Given the description of an element on the screen output the (x, y) to click on. 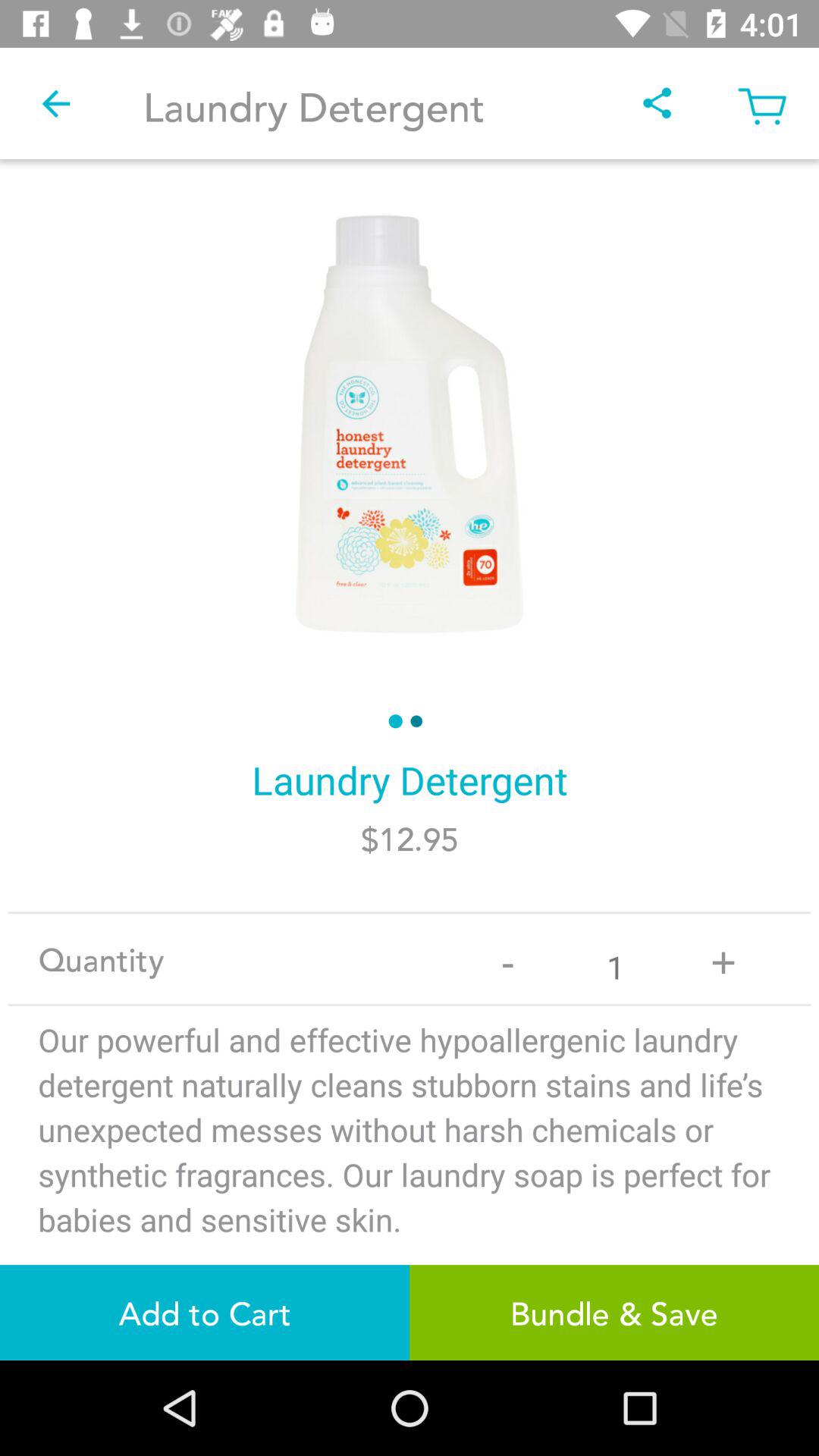
jump until the our powerful and (409, 1170)
